Given the description of an element on the screen output the (x, y) to click on. 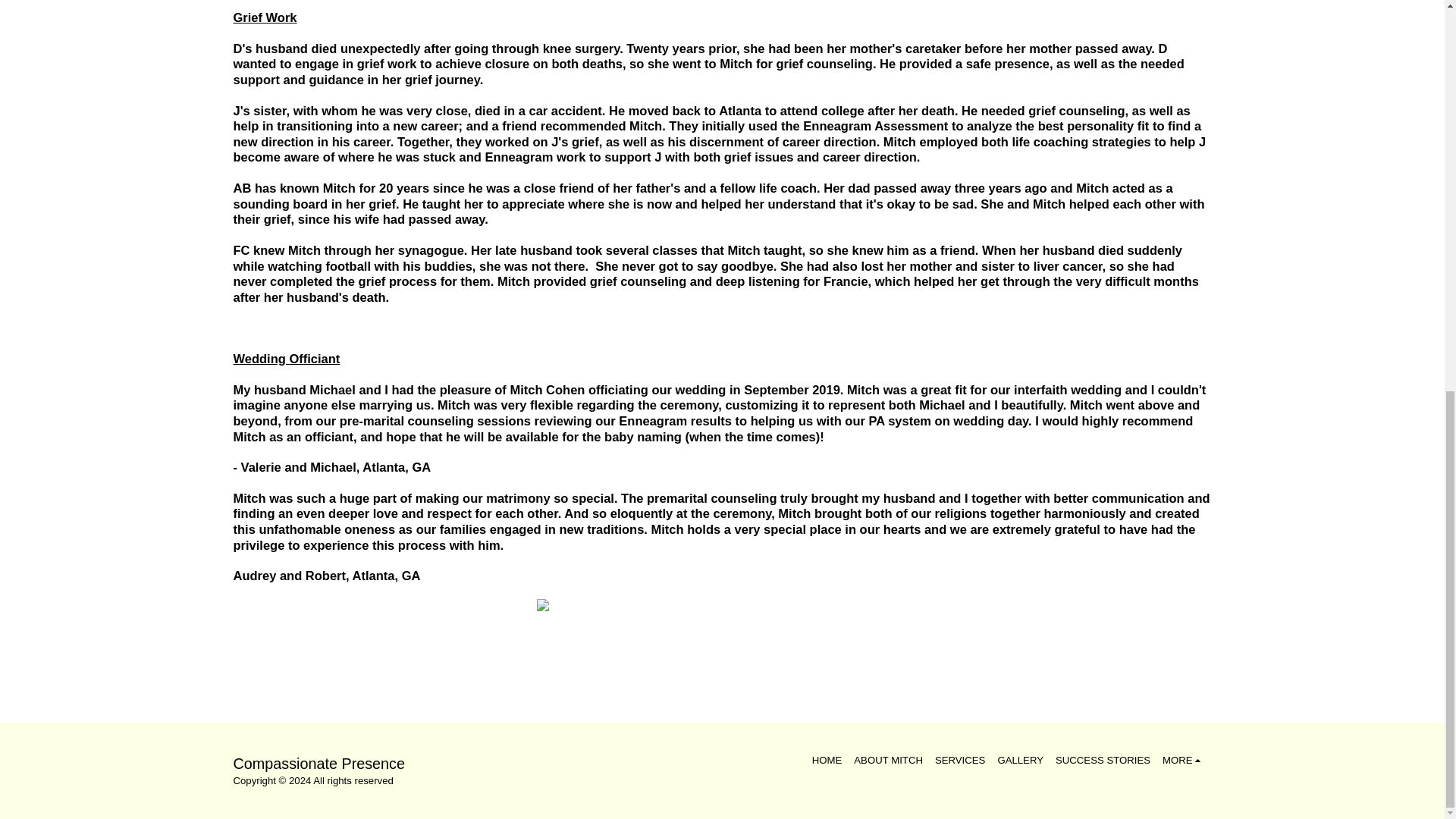
HOME (827, 760)
ABOUT MITCH (888, 760)
GALLERY (1020, 760)
SUCCESS STORIES (1102, 760)
MORE   (1183, 760)
SERVICES (959, 760)
